Given the description of an element on the screen output the (x, y) to click on. 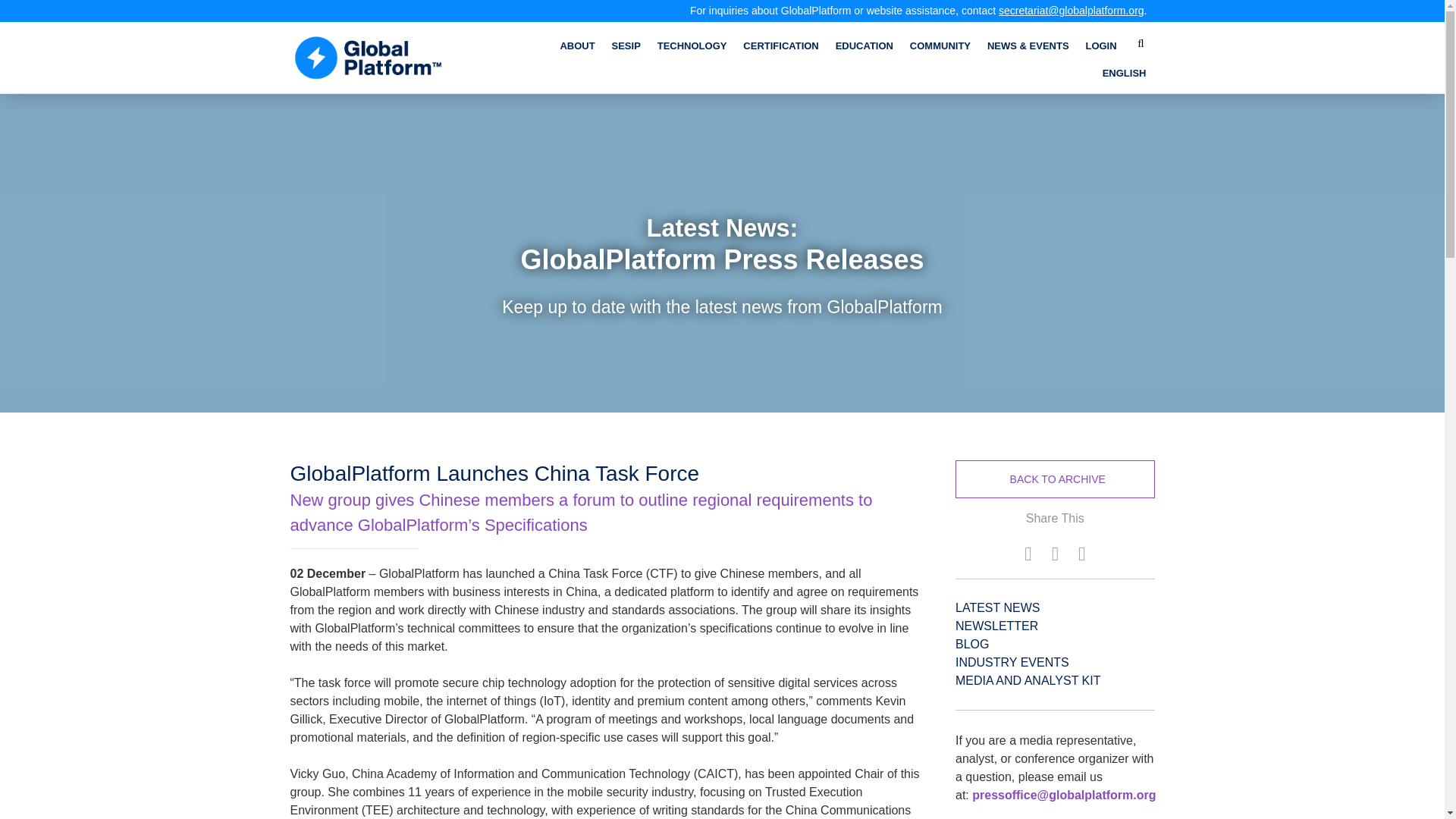
ABOUT (576, 46)
CERTIFICATION (780, 46)
TECHNOLOGY (691, 46)
SESIP (625, 46)
